Given the description of an element on the screen output the (x, y) to click on. 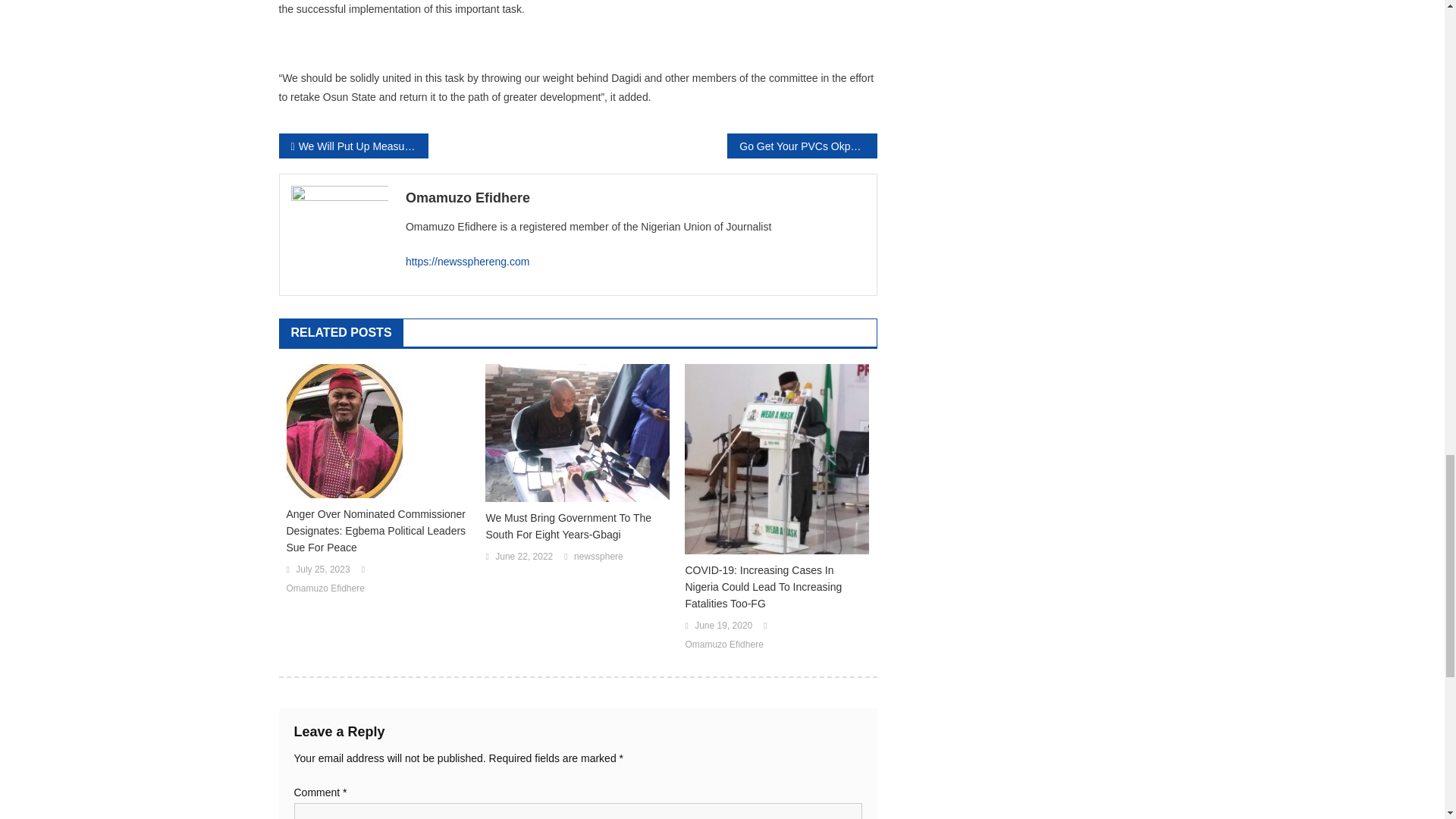
July 25, 2023 (322, 569)
June 19, 2020 (723, 626)
June 22, 2022 (524, 556)
Omamuzo Efidhere (325, 588)
We Must Bring Government To The South For Eight Years-Gbagi (576, 525)
Omamuzo Efidhere (635, 197)
Omamuzo Efidhere (723, 645)
Go Get Your PVCs Okpakpor Charges Iyede People (801, 145)
newssphere (598, 556)
